Given the description of an element on the screen output the (x, y) to click on. 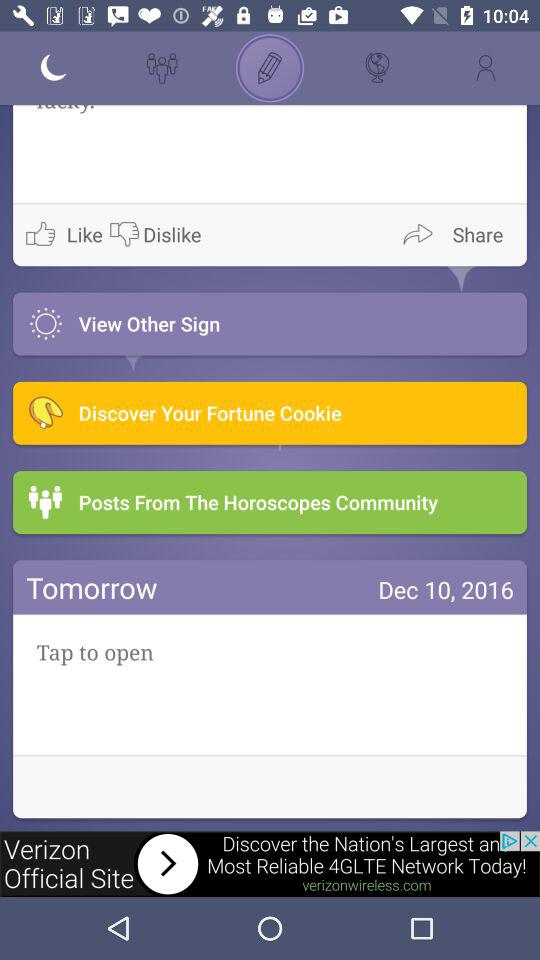
advertisement (270, 864)
